Given the description of an element on the screen output the (x, y) to click on. 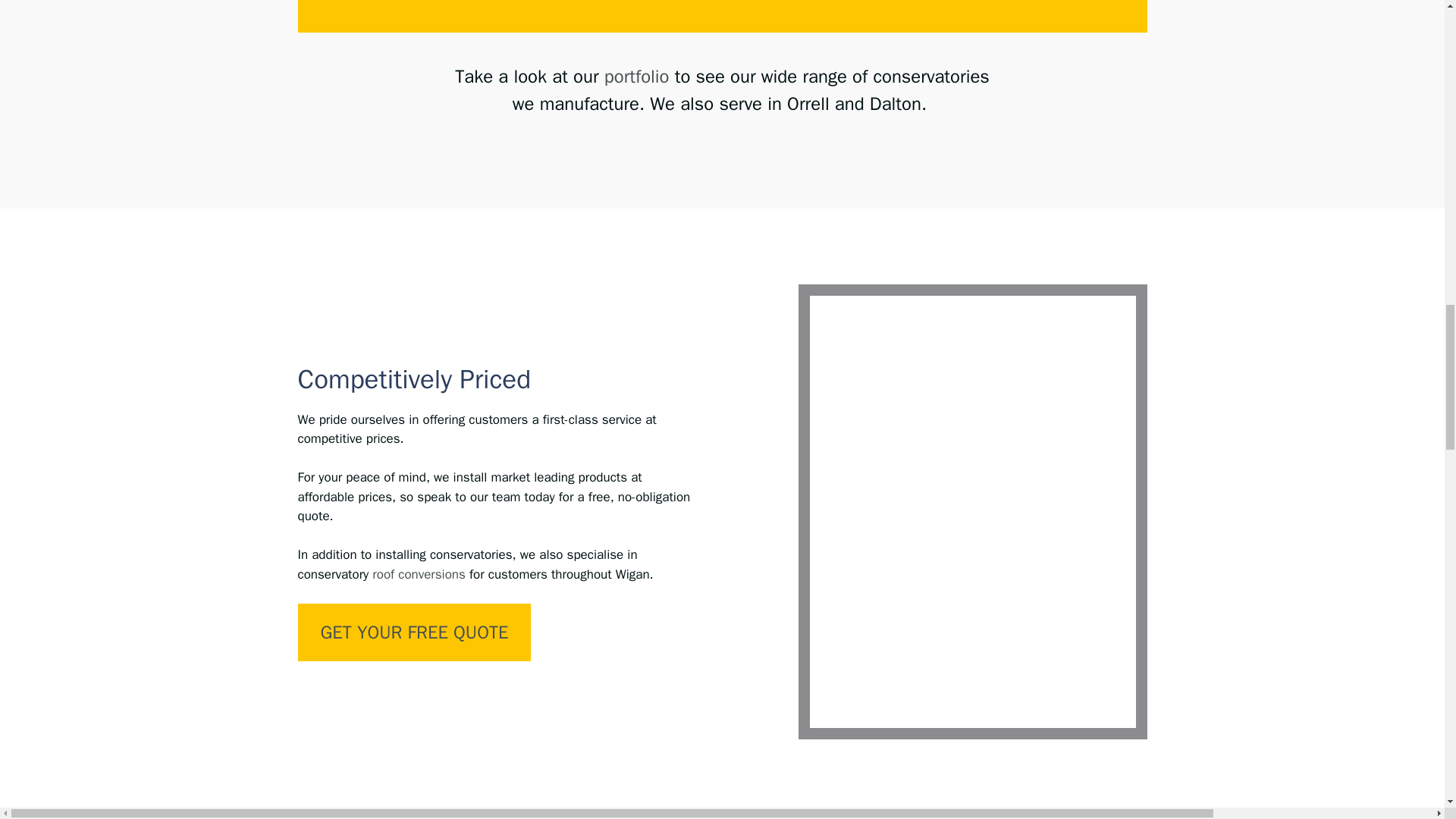
roof conversions (418, 574)
portfolio (636, 76)
GET YOUR FREE QUOTE (414, 631)
